Given the description of an element on the screen output the (x, y) to click on. 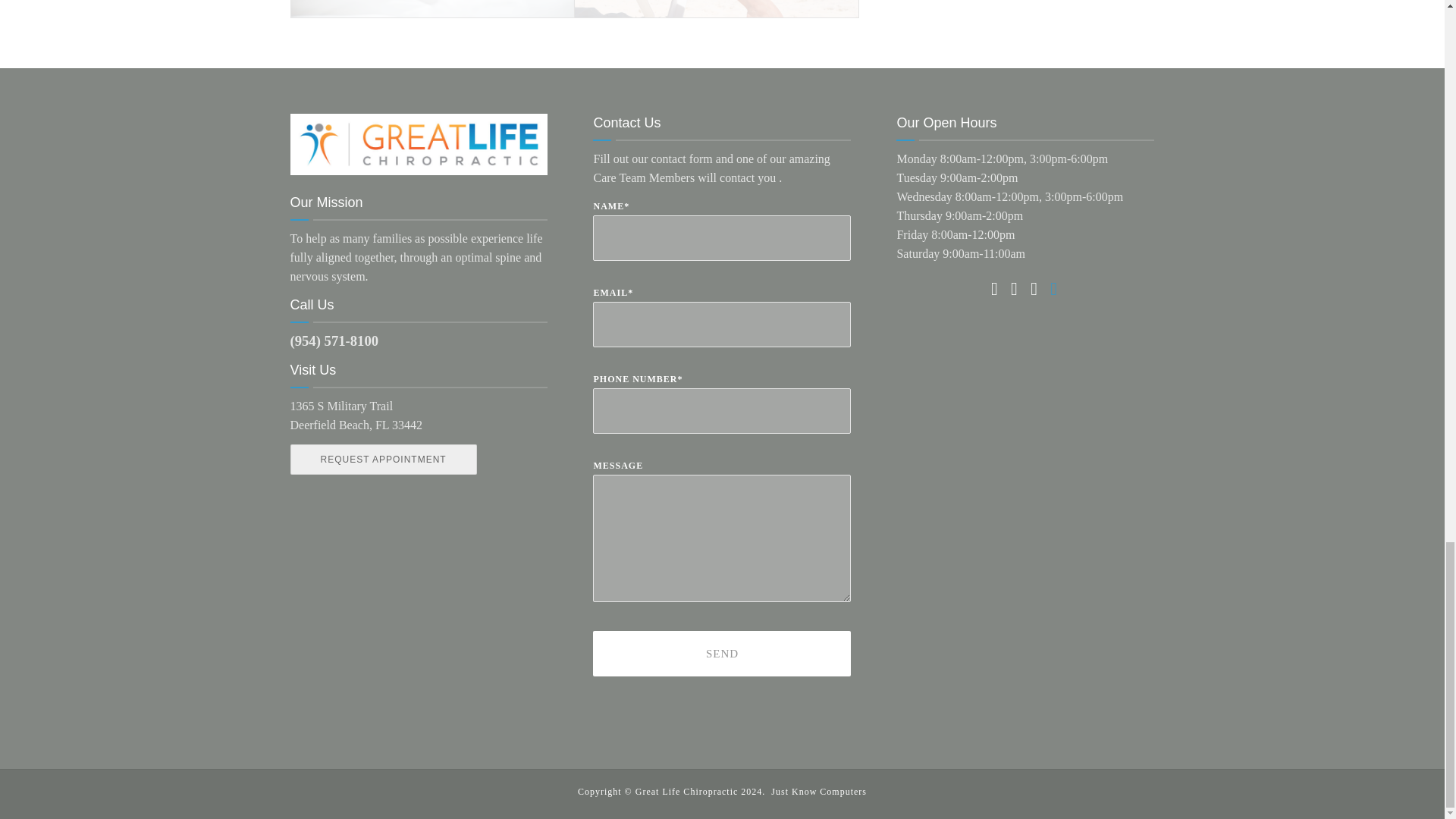
Send (721, 653)
